Given the description of an element on the screen output the (x, y) to click on. 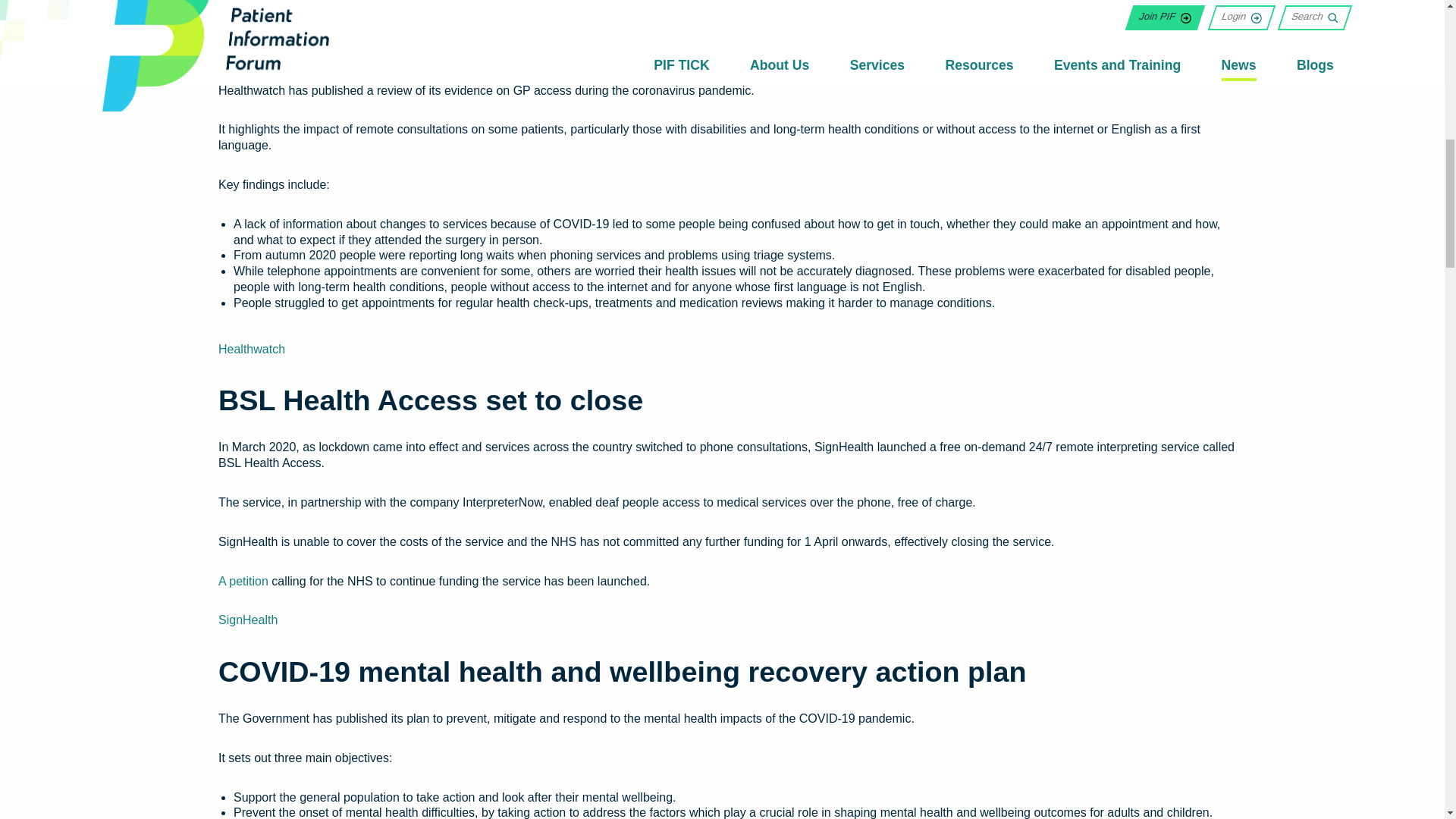
SignHealth (248, 619)
Healthwatch (251, 349)
A petition (242, 581)
